Given the description of an element on the screen output the (x, y) to click on. 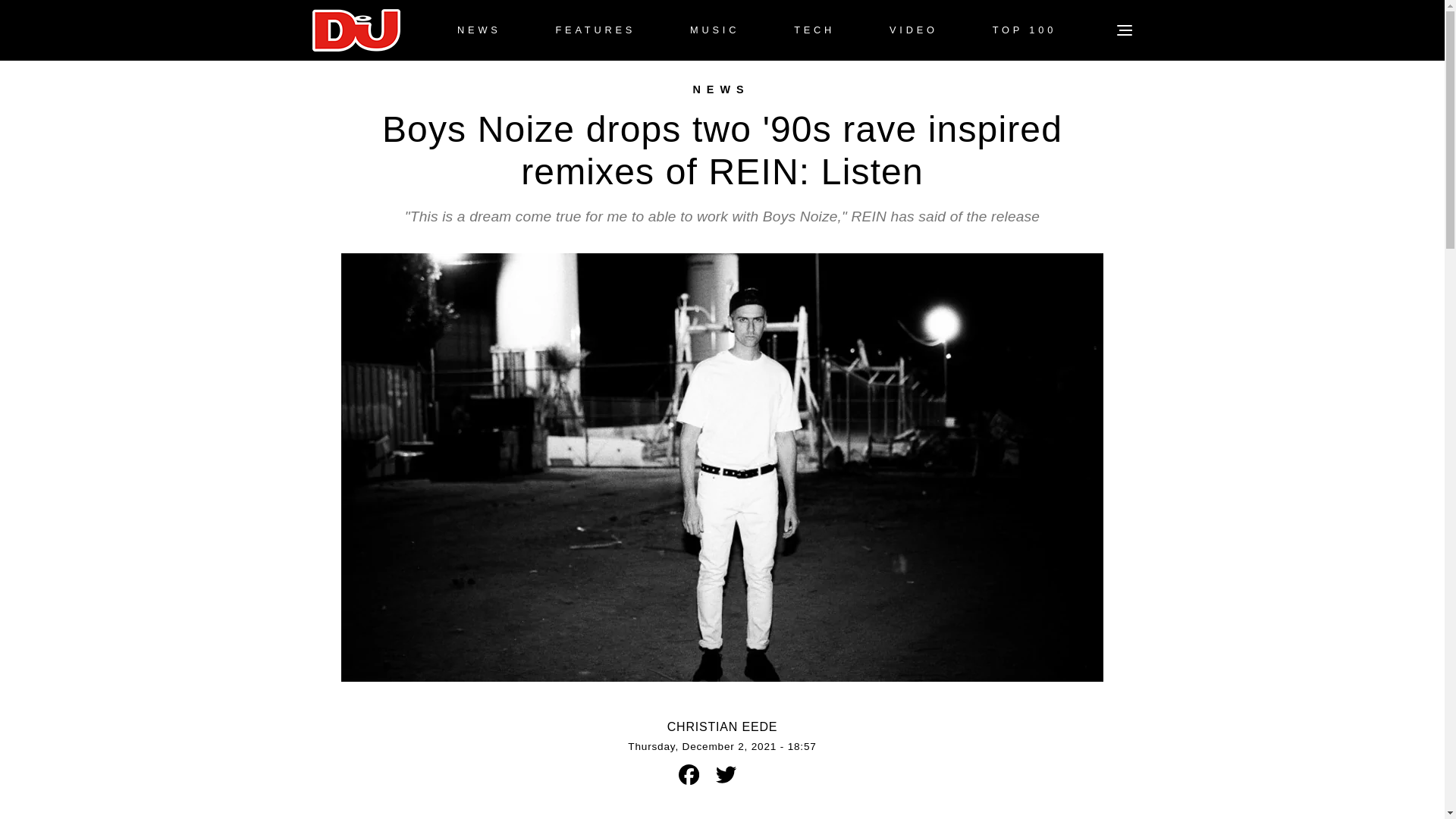
VIDEO (913, 29)
TECH (813, 29)
NEWS (478, 29)
Twitter (726, 774)
MUSIC (714, 29)
DJ Mag (356, 30)
Share to Facebook (689, 774)
Facebook (688, 774)
Share to Twitter (725, 774)
FEATURES (594, 29)
